Given the description of an element on the screen output the (x, y) to click on. 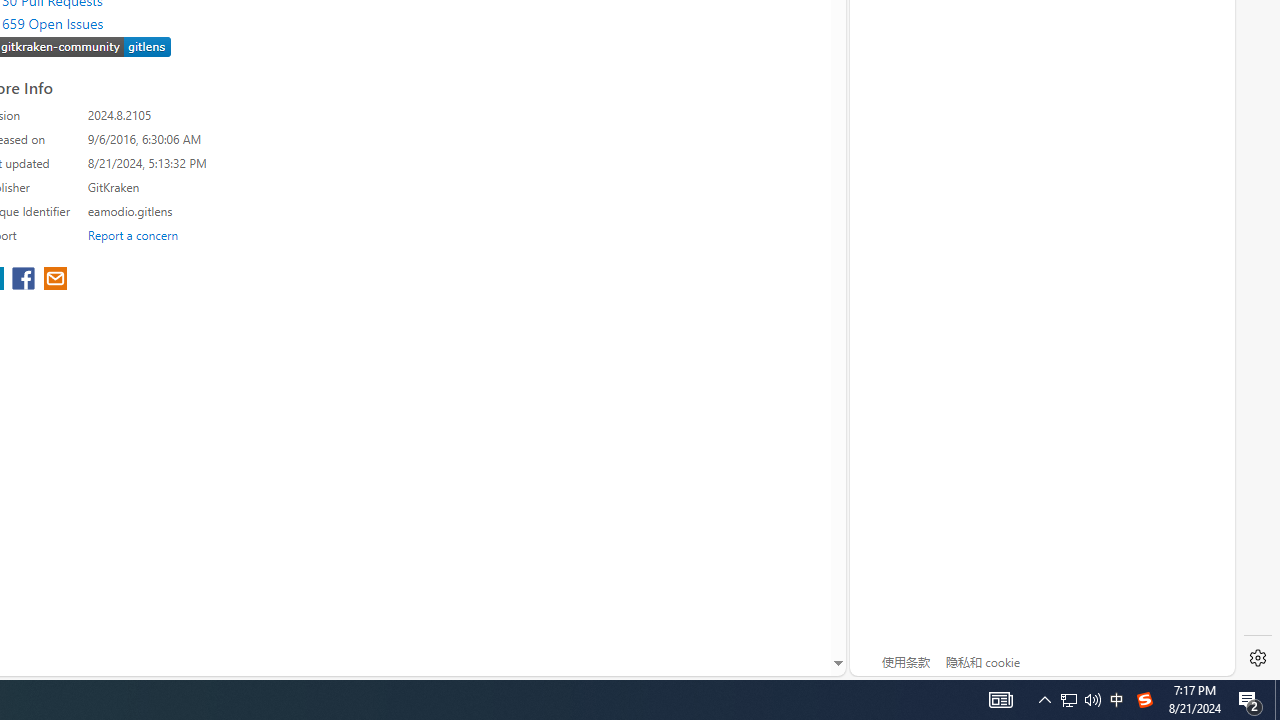
Action Center, 2 new notifications (1250, 699)
User Promoted Notification Area (1069, 699)
AutomationID: 4105 (1080, 699)
Tray Input Indicator - Chinese (Simplified, China) (1000, 699)
Notification Chevron (1144, 699)
Show desktop (1044, 699)
Q2790: 100% (1277, 699)
